Given the description of an element on the screen output the (x, y) to click on. 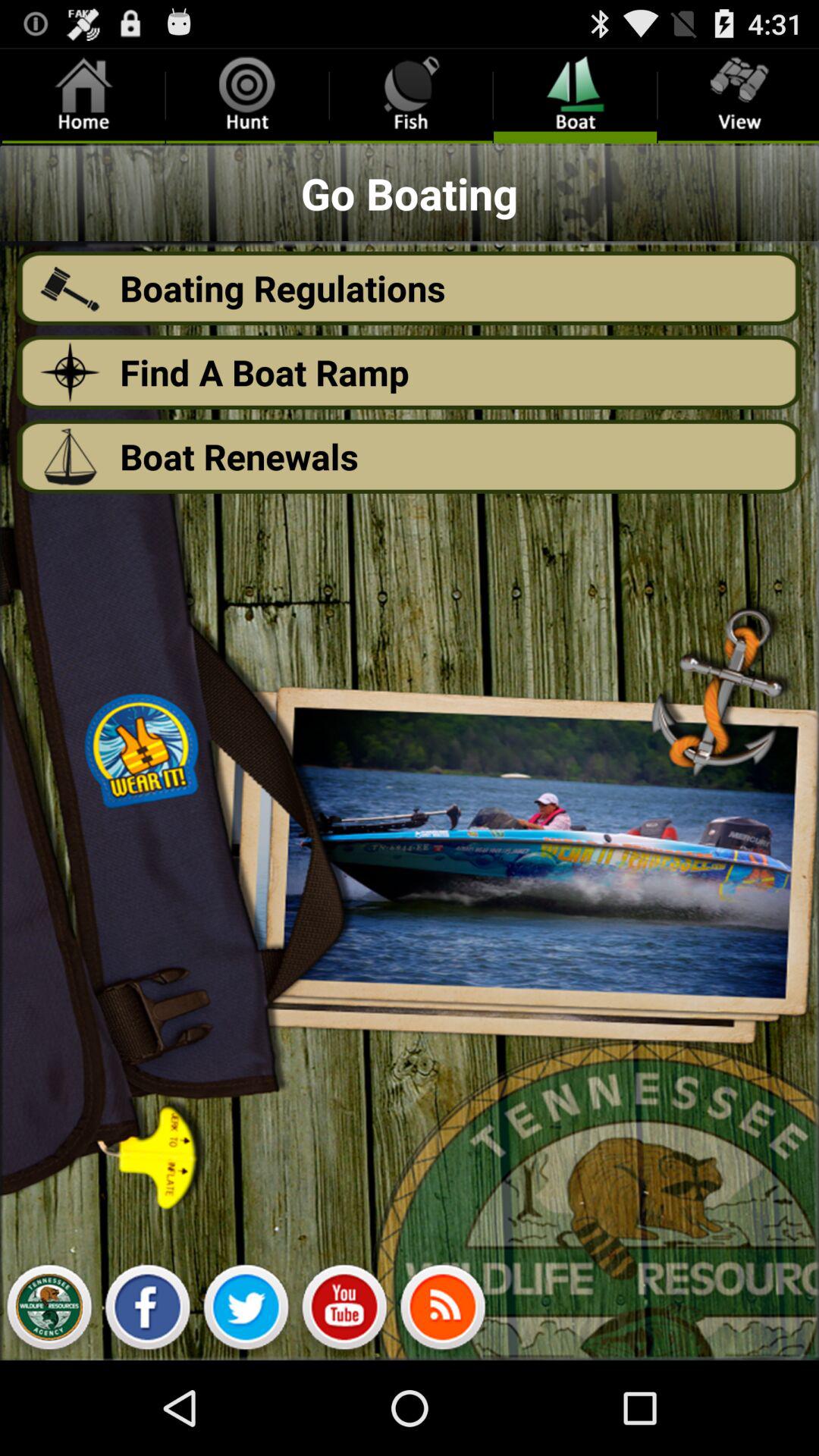
opens the tennessee wildlife resource page (49, 1311)
